Given the description of an element on the screen output the (x, y) to click on. 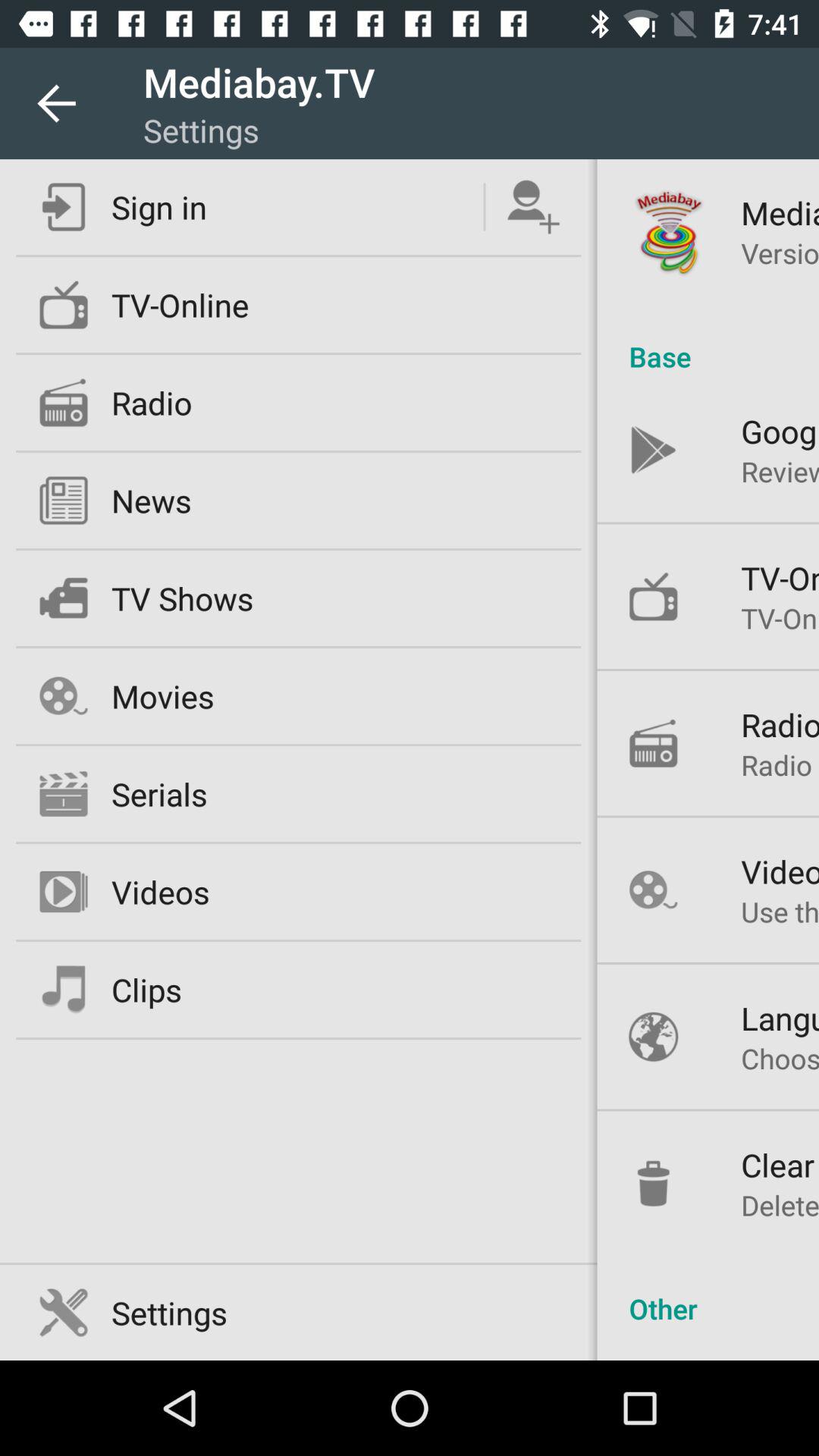
scroll until the movies icon (162, 695)
